Given the description of an element on the screen output the (x, y) to click on. 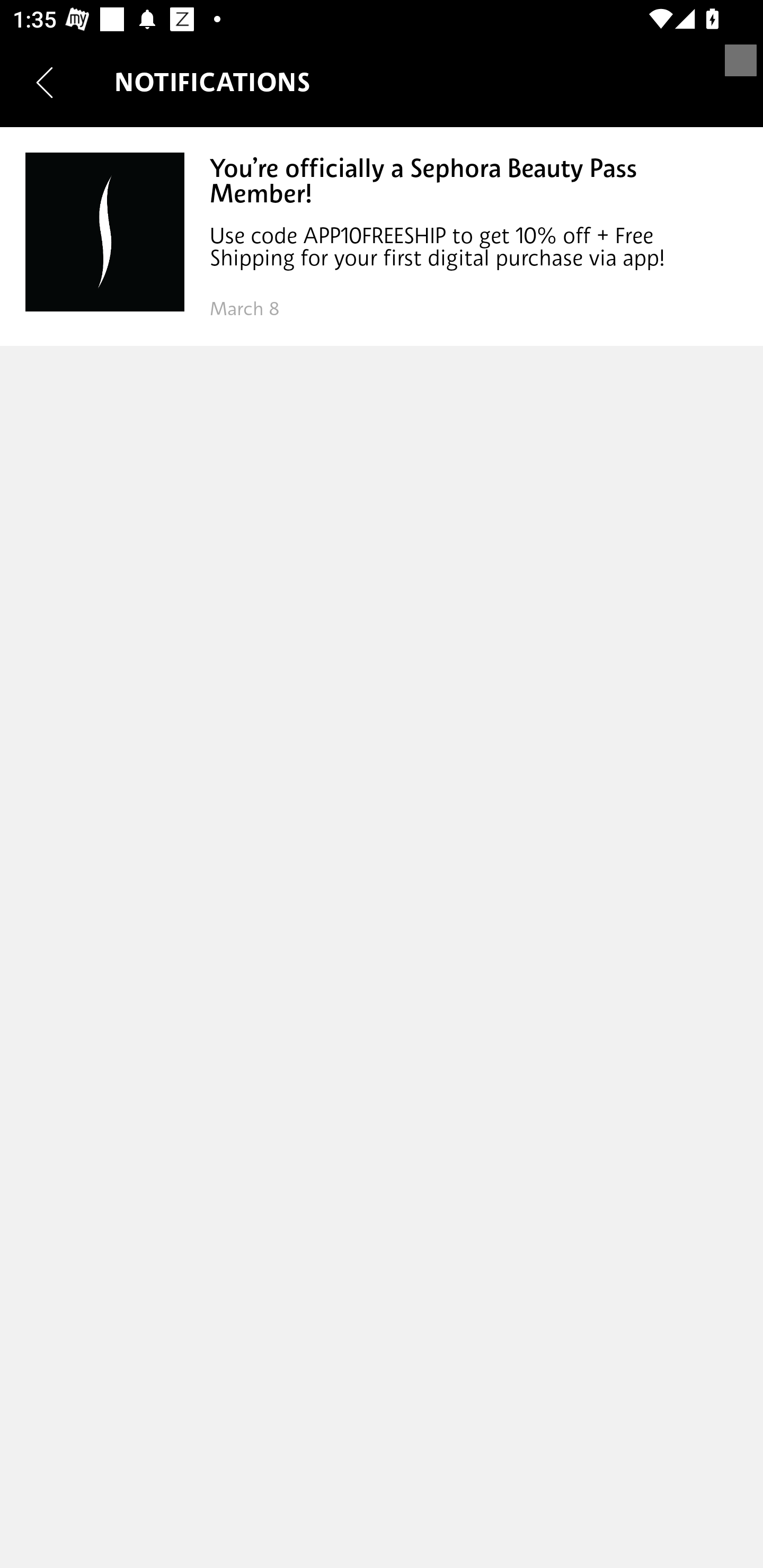
Navigate up (44, 82)
